Given the description of an element on the screen output the (x, y) to click on. 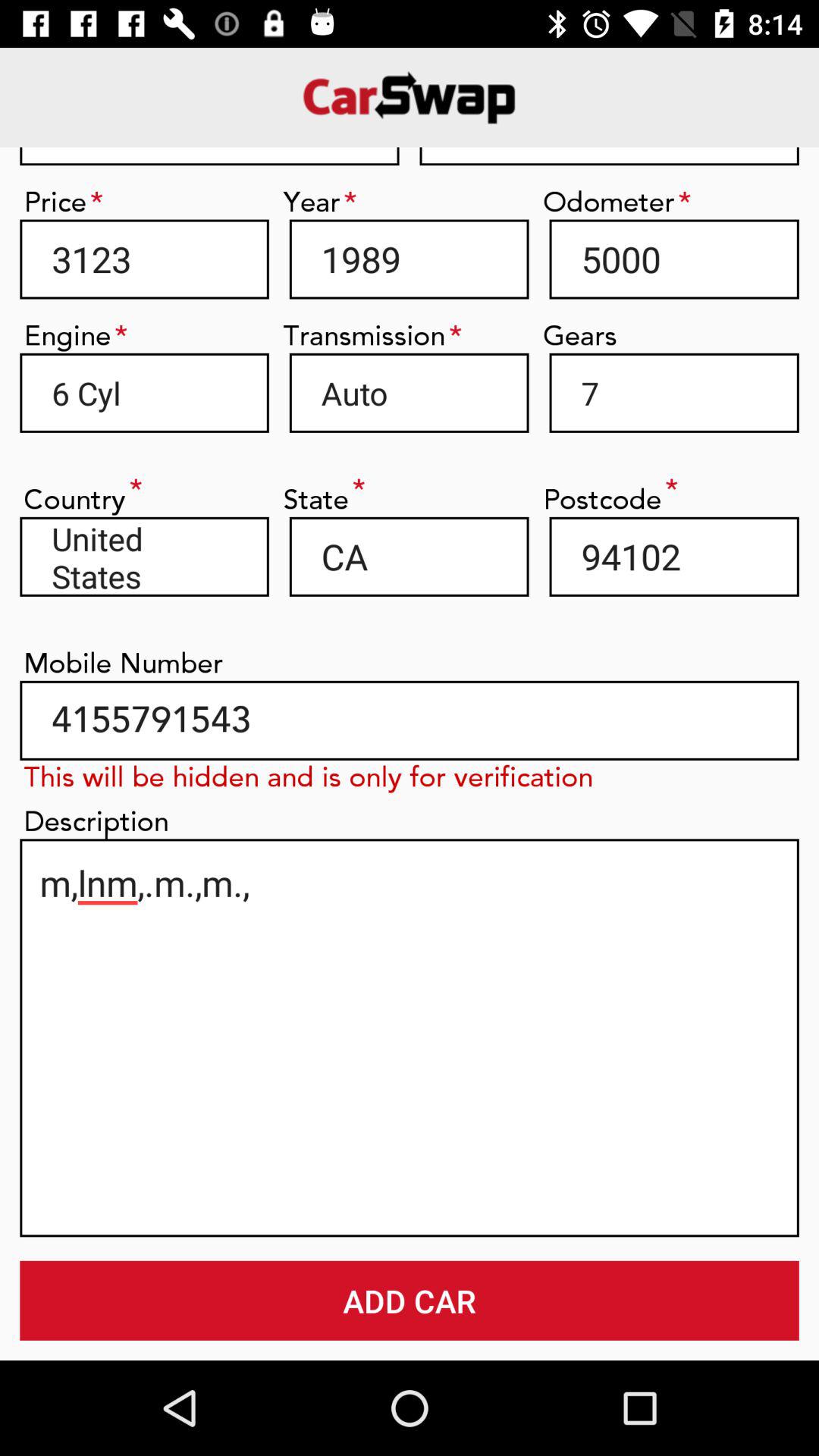
tap the add car item (409, 1300)
